Given the description of an element on the screen output the (x, y) to click on. 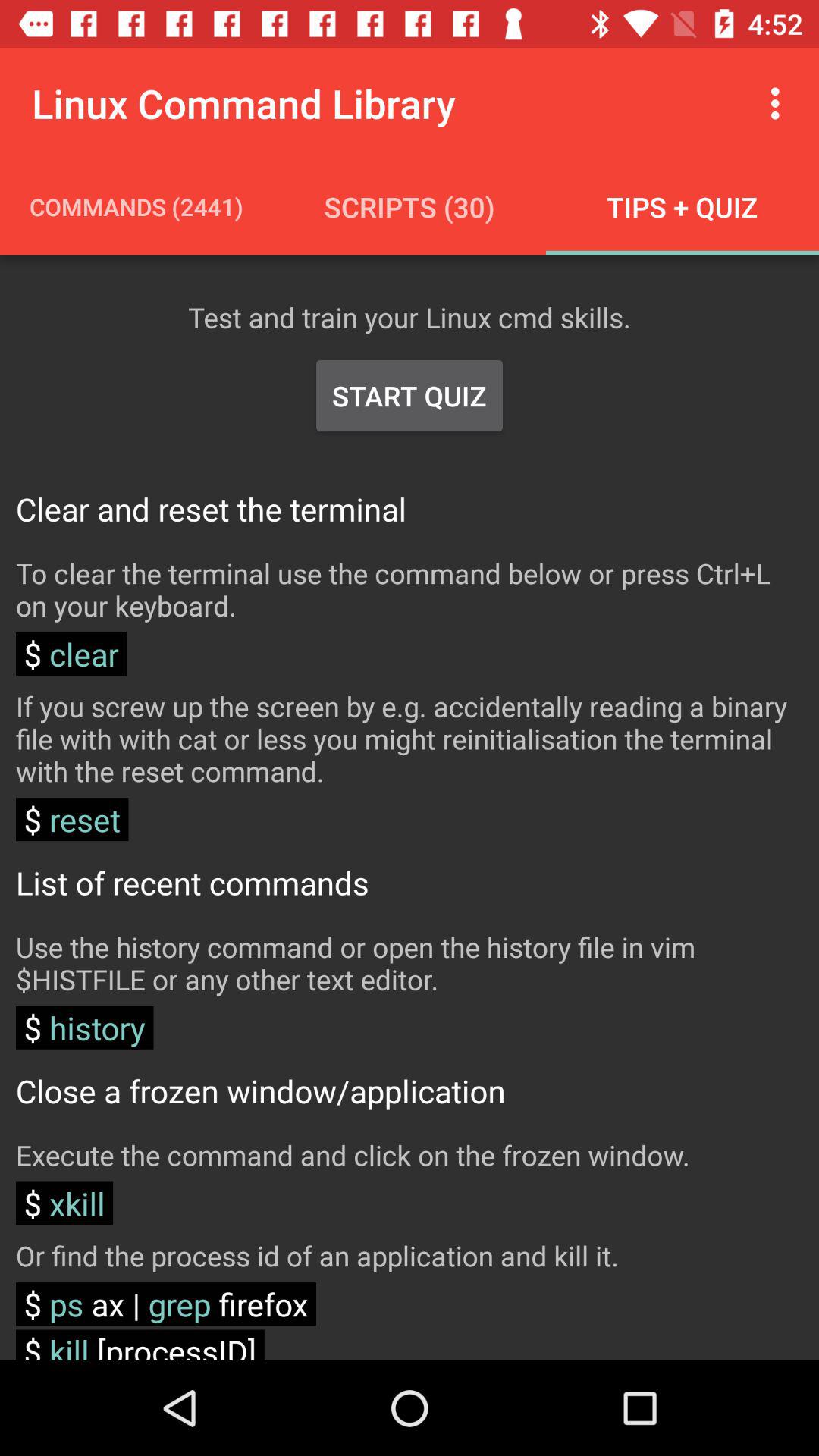
open icon above tips + quiz (779, 103)
